Given the description of an element on the screen output the (x, y) to click on. 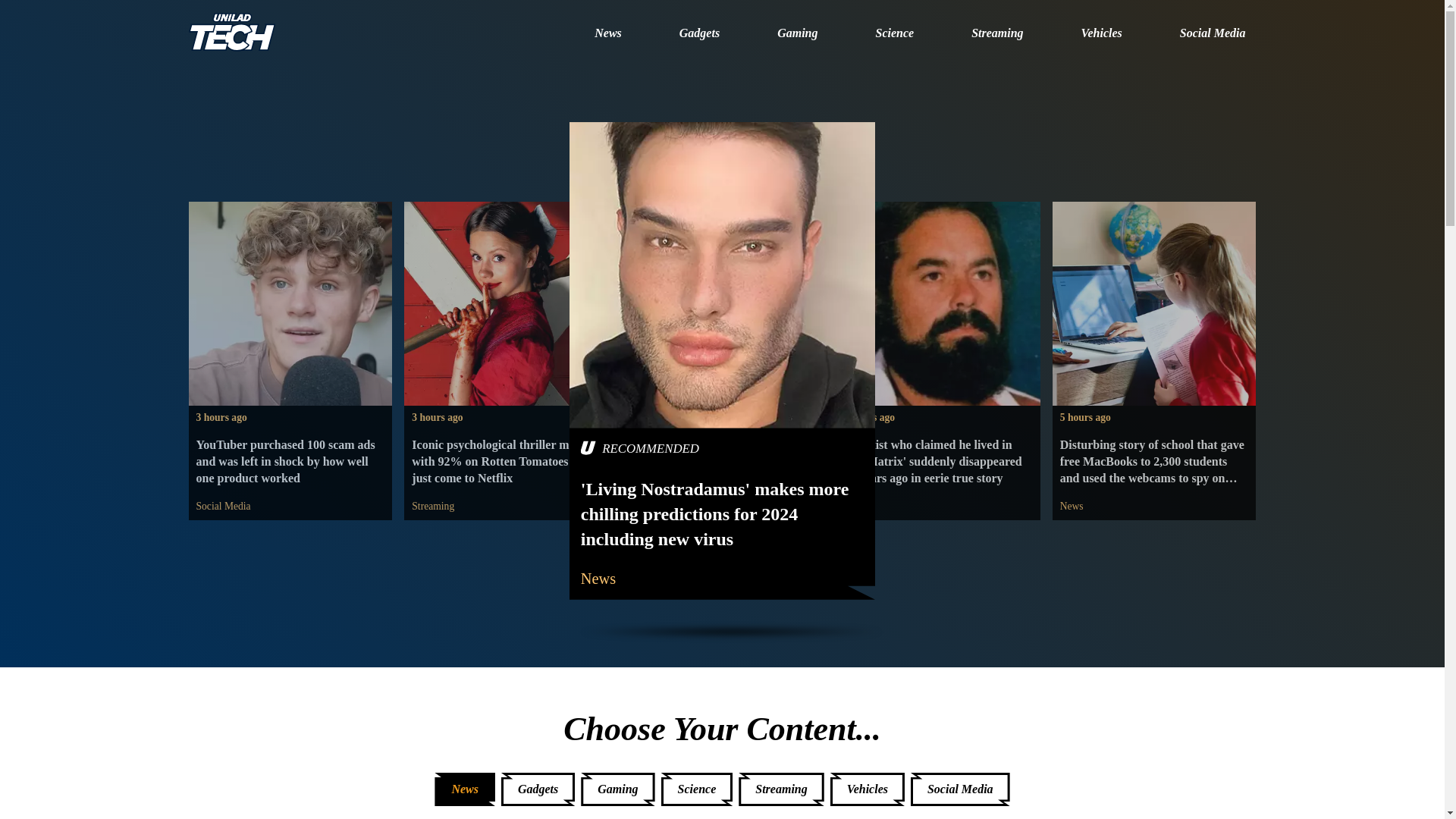
Gadgets (699, 34)
Social Media (1212, 34)
News (855, 506)
News (675, 576)
News (607, 34)
News (1071, 506)
Social Media (222, 506)
